Given the description of an element on the screen output the (x, y) to click on. 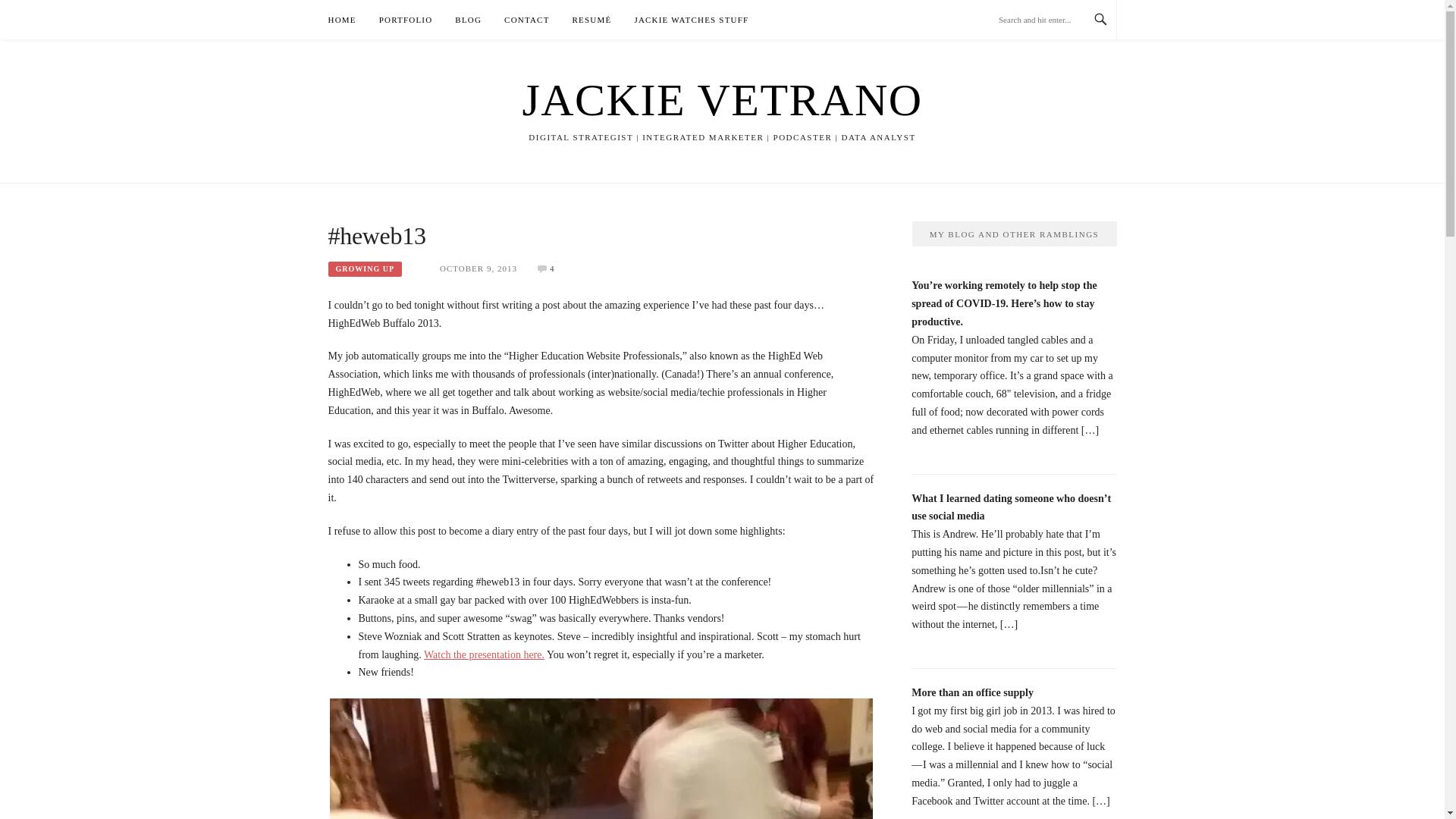
image (600, 758)
Watch the presentation here. (483, 654)
CONTACT (525, 19)
JACKIE VETRANO (721, 100)
PORTFOLIO (405, 19)
JACKIE WATCHES STUFF (690, 19)
GROWING UP (364, 268)
